Given the description of an element on the screen output the (x, y) to click on. 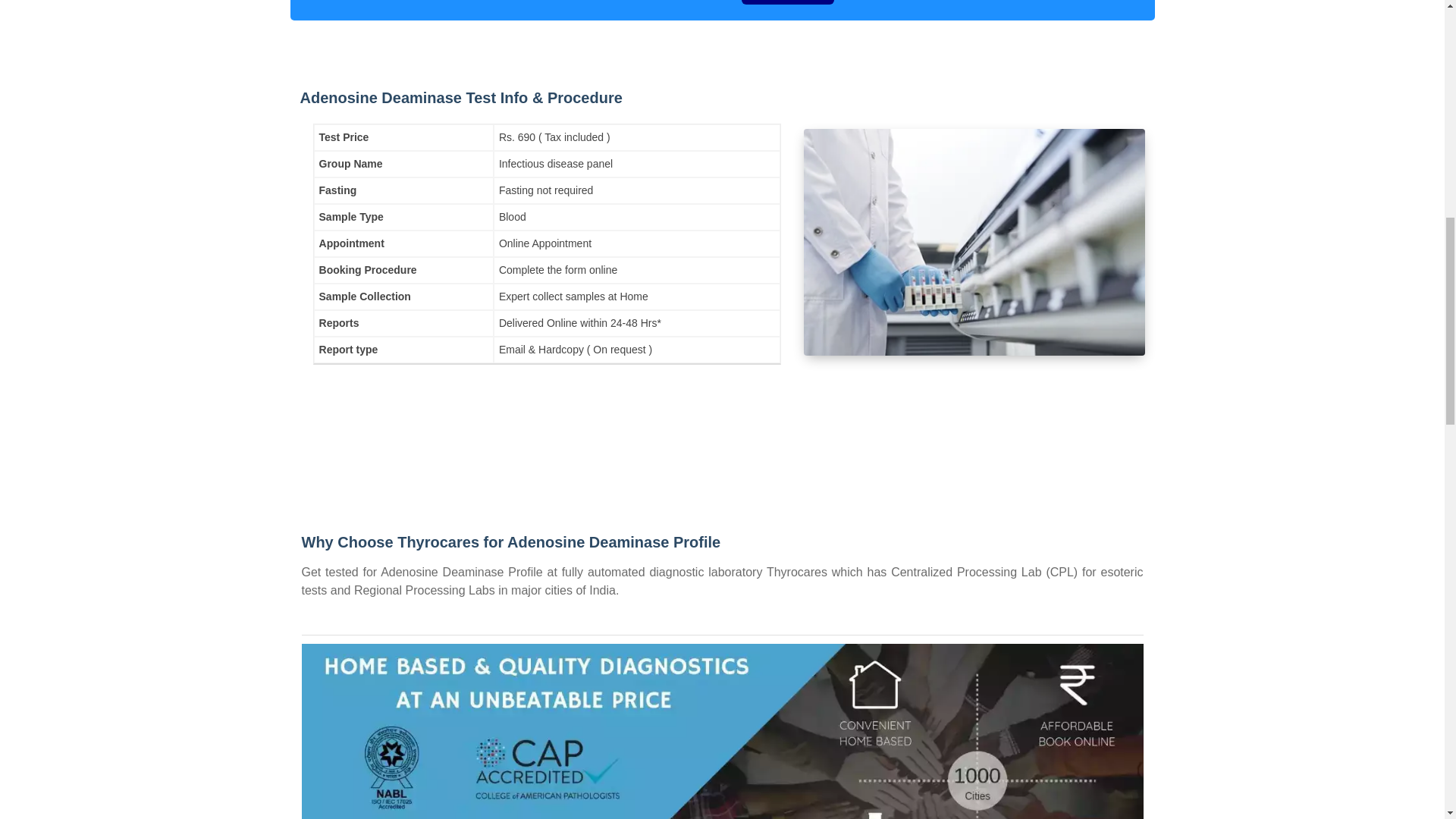
Book Now (787, 2)
Add To Cart For Multiple Test (945, 2)
Book Now (787, 2)
